Given the description of an element on the screen output the (x, y) to click on. 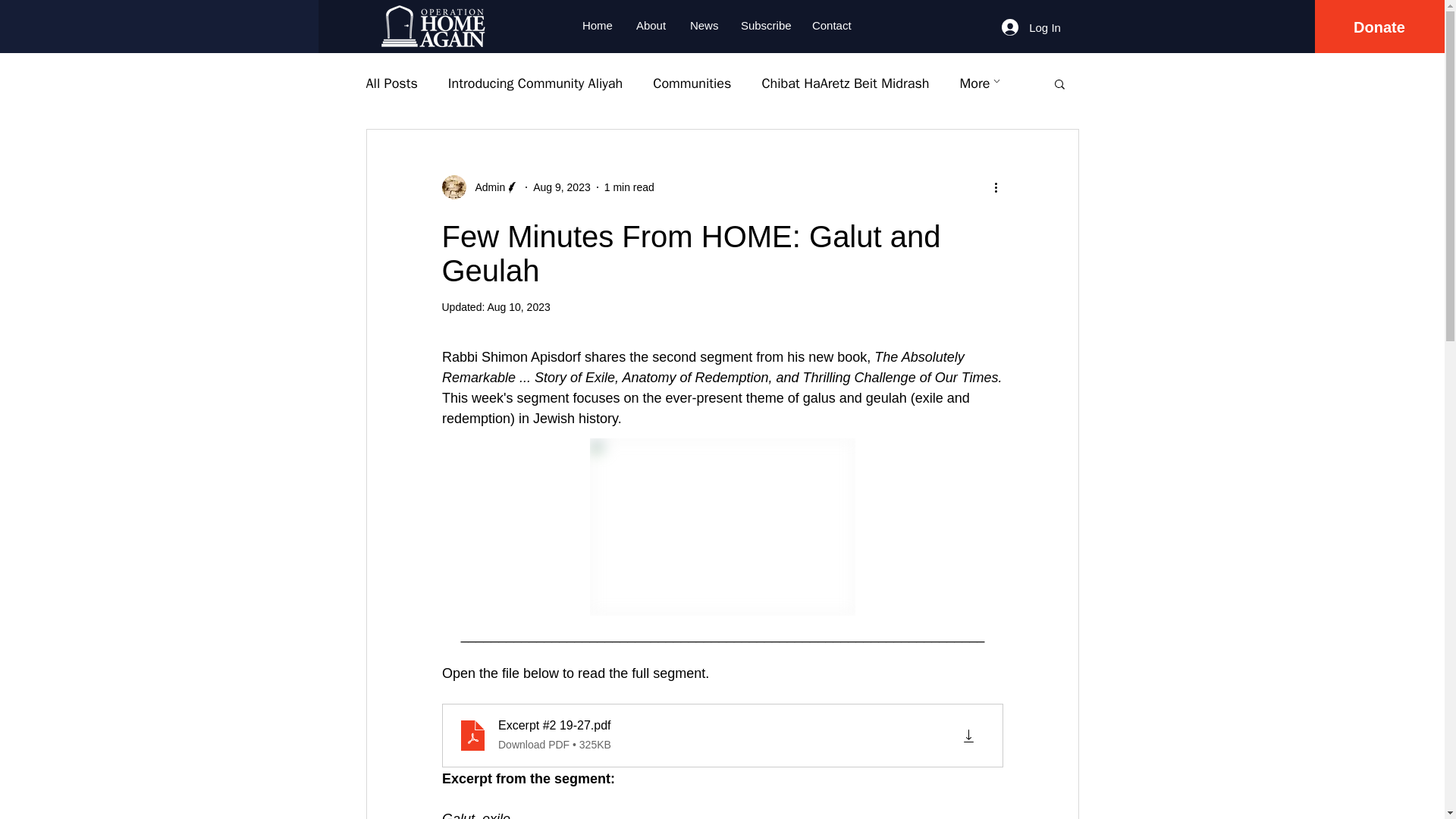
1 min read (628, 186)
About (651, 25)
Chibat HaAretz Beit Midrash (844, 83)
Admin (480, 187)
Log In (1031, 27)
Home (597, 25)
Contact (831, 25)
Donate (1378, 27)
Subscribe (764, 25)
Aug 9, 2023 (561, 186)
